Given the description of an element on the screen output the (x, y) to click on. 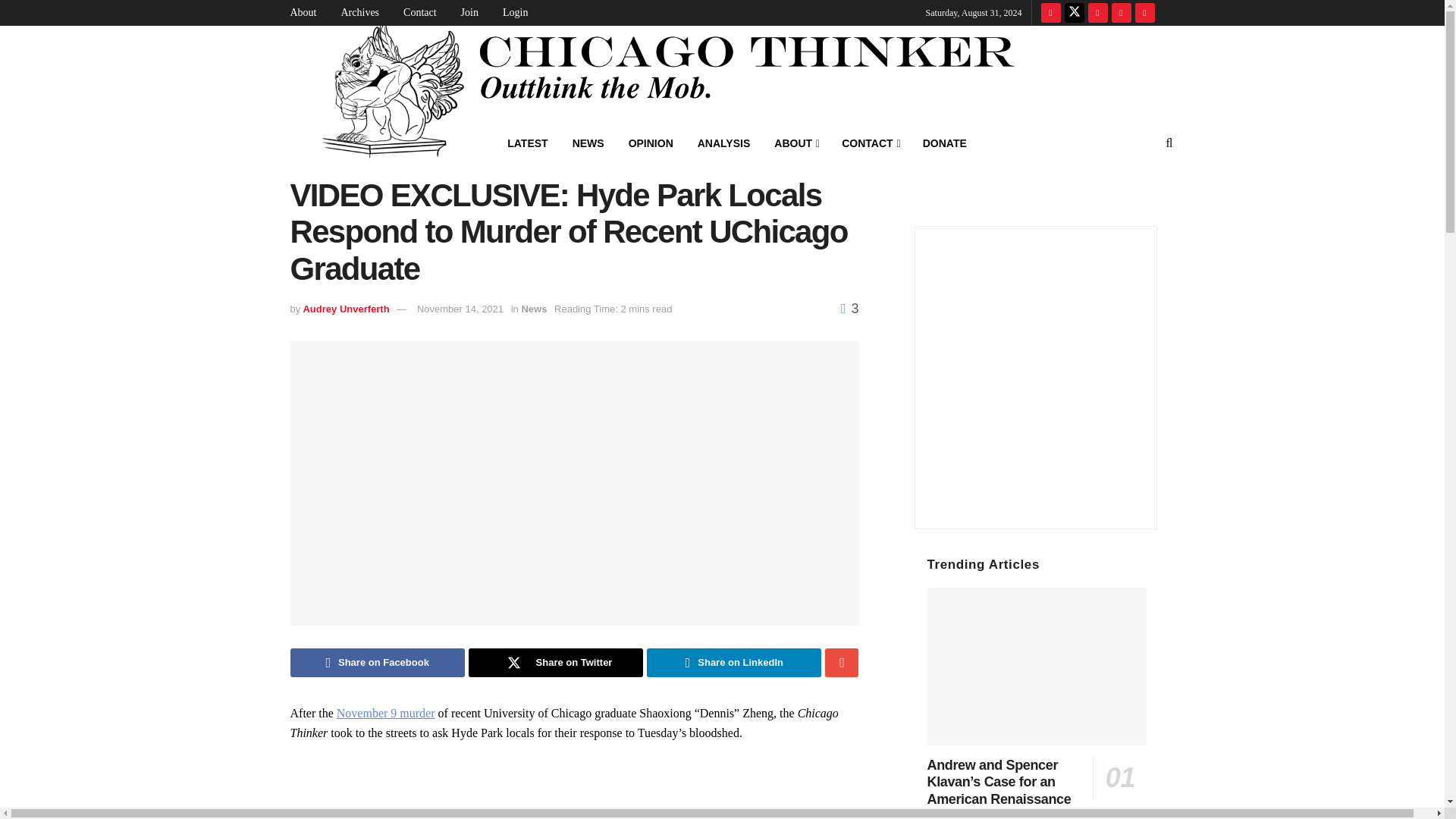
CONTACT (870, 142)
Join (477, 12)
ANALYSIS (723, 142)
OPINION (650, 142)
About (310, 12)
Contact (427, 12)
ABOUT (795, 142)
Login (522, 12)
DONATE (944, 142)
